Given the description of an element on the screen output the (x, y) to click on. 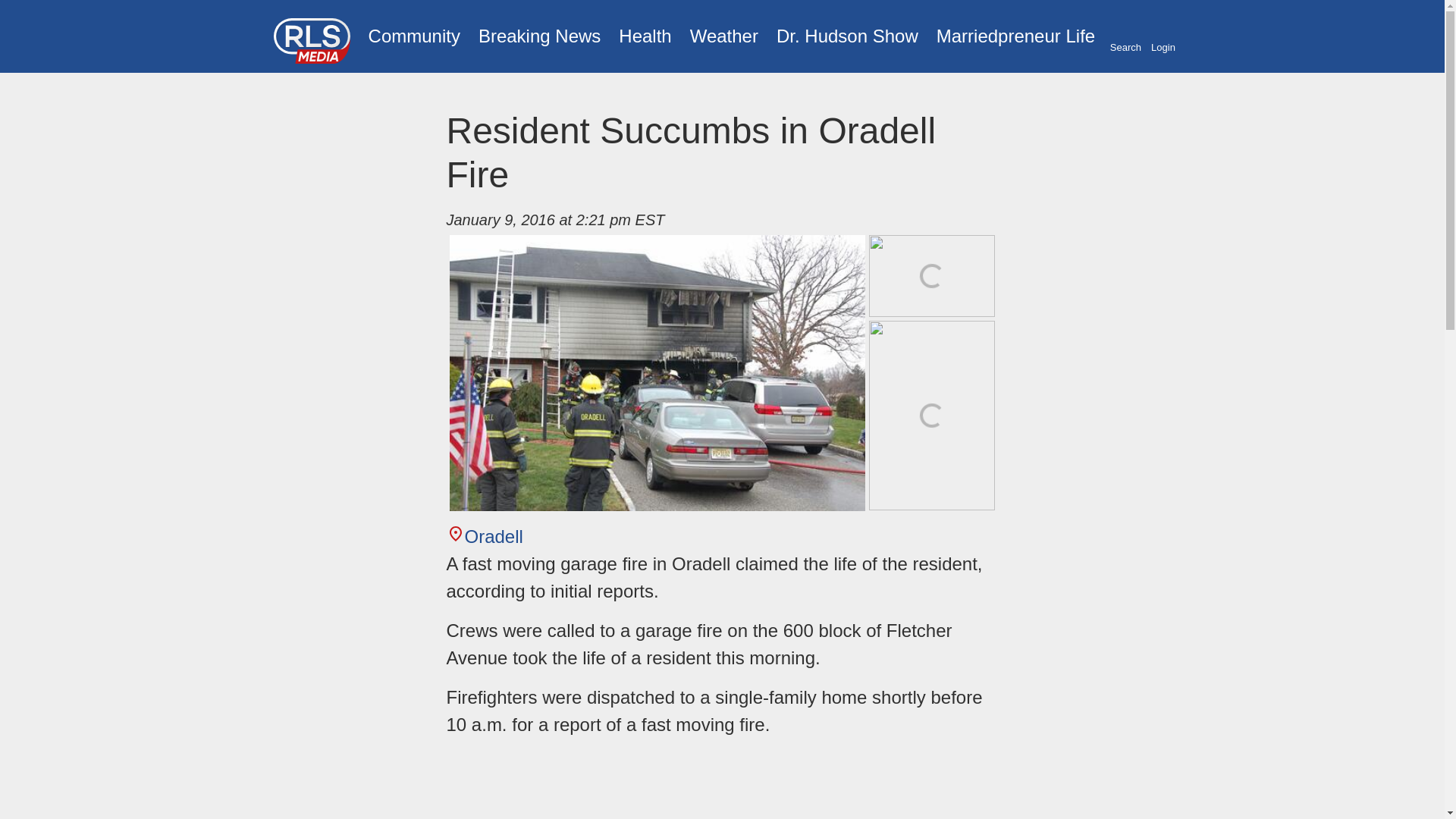
Community (413, 36)
Community News (413, 36)
Advertisement (721, 785)
Dr. Hudson Show (847, 36)
Weather (724, 36)
Marriedpreneur Life (1015, 36)
Search (1125, 37)
Health News (644, 36)
Oradell (483, 536)
